Given the description of an element on the screen output the (x, y) to click on. 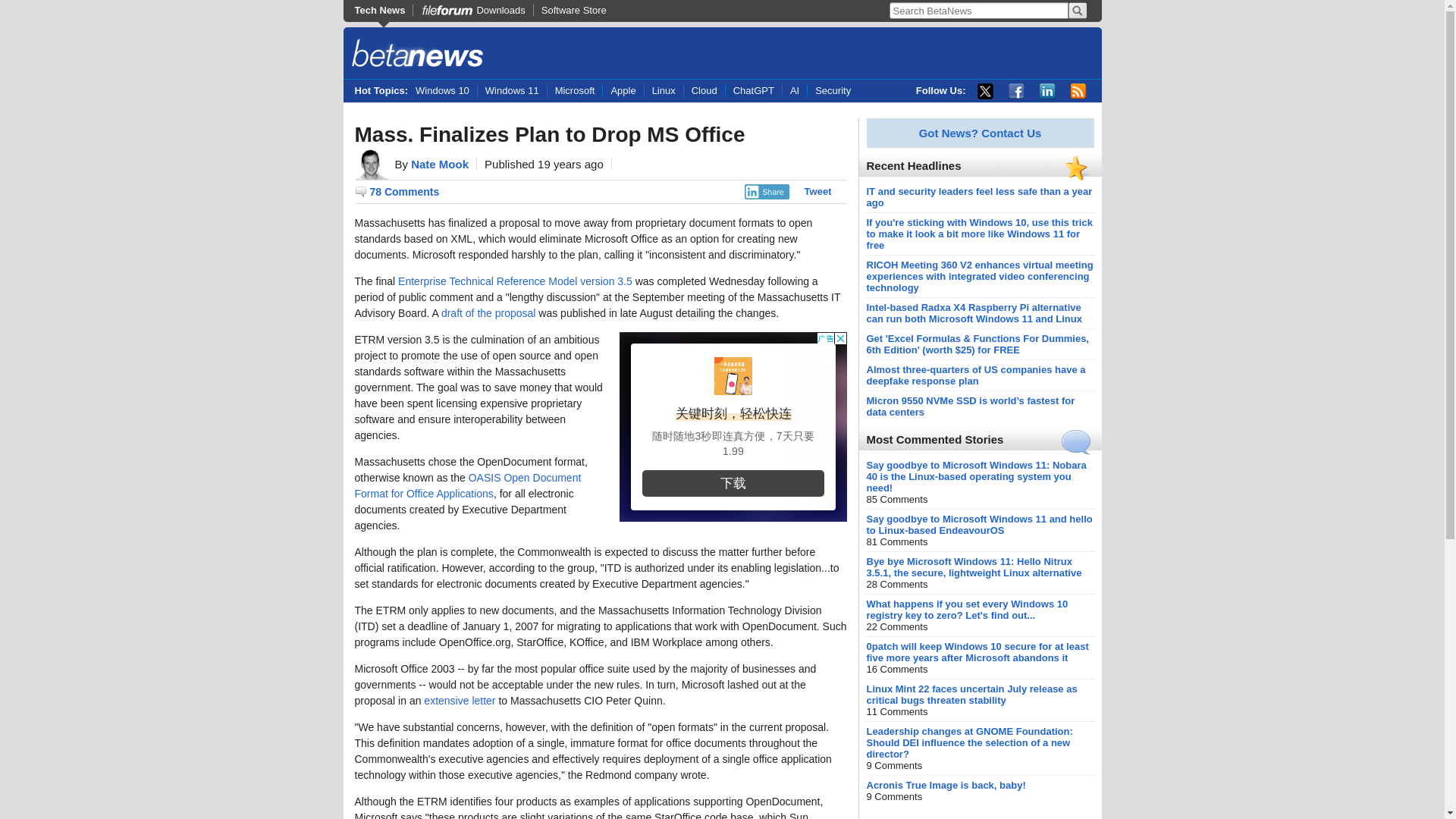
Cloud (703, 90)
Nate Mook (439, 164)
AI (793, 90)
Windows 10 (445, 90)
Twitter (984, 91)
ChatGPT (753, 90)
RSS (1078, 91)
Apple (622, 90)
Tweet (818, 191)
IT and security leaders feel less safe than a year ago (979, 196)
RSS (1078, 91)
Search (1076, 10)
